Given the description of an element on the screen output the (x, y) to click on. 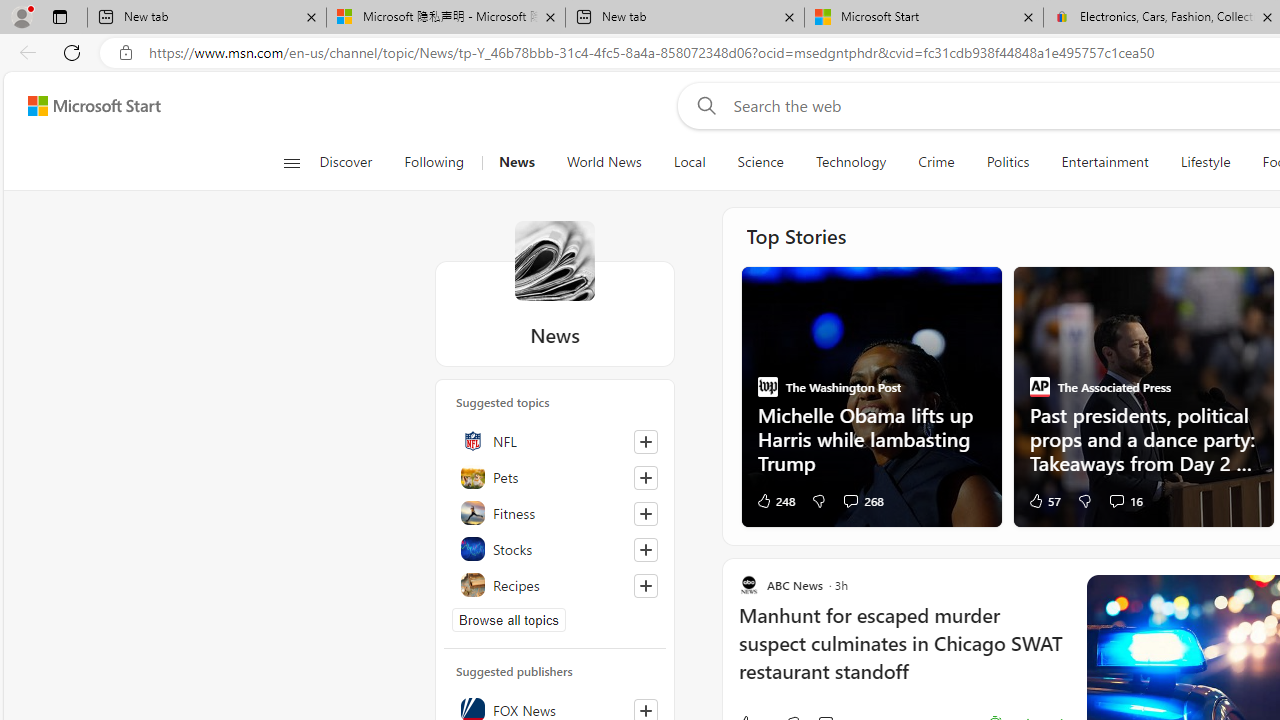
Stocks (555, 548)
Fitness (555, 512)
View comments 16 Comment (1124, 500)
View comments 268 Comment (863, 500)
